Given the description of an element on the screen output the (x, y) to click on. 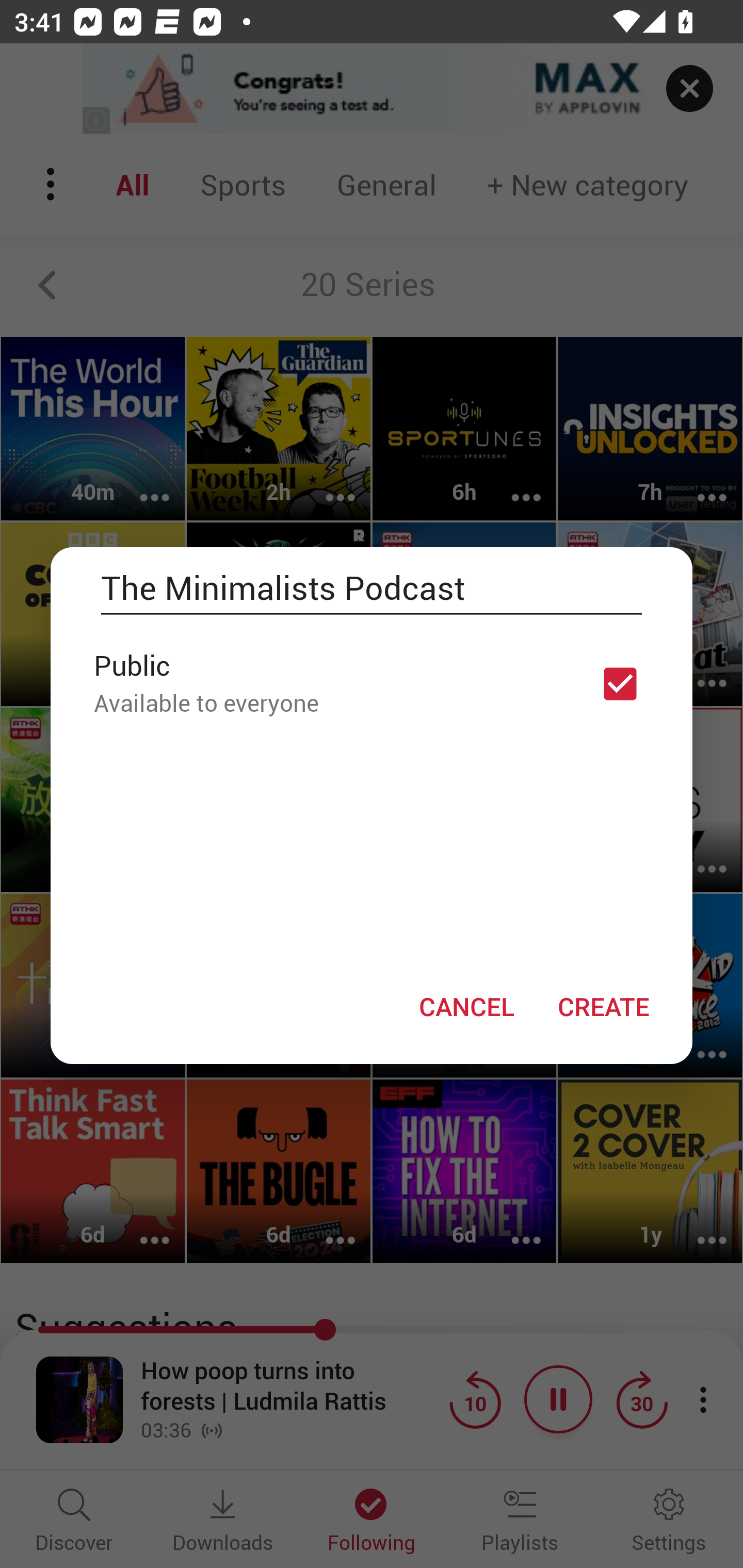
The Minimalists Podcast (371, 587)
Public Available to everyone (371, 683)
CANCEL (465, 1005)
CREATE (602, 1005)
